Given the description of an element on the screen output the (x, y) to click on. 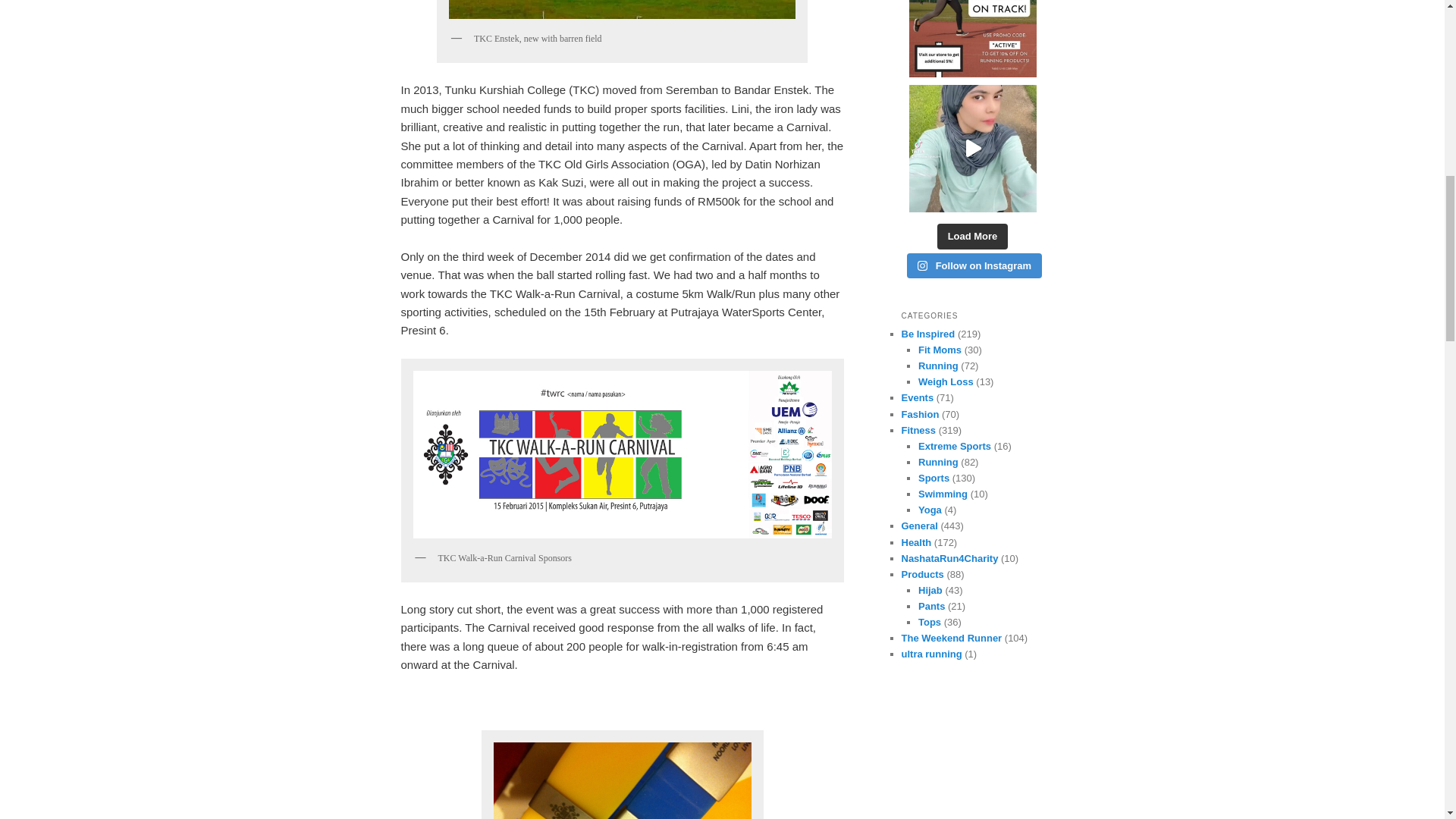
TKC Walk-a-Run Carnival  (622, 454)
Sporting actiivities (933, 478)
